Given the description of an element on the screen output the (x, y) to click on. 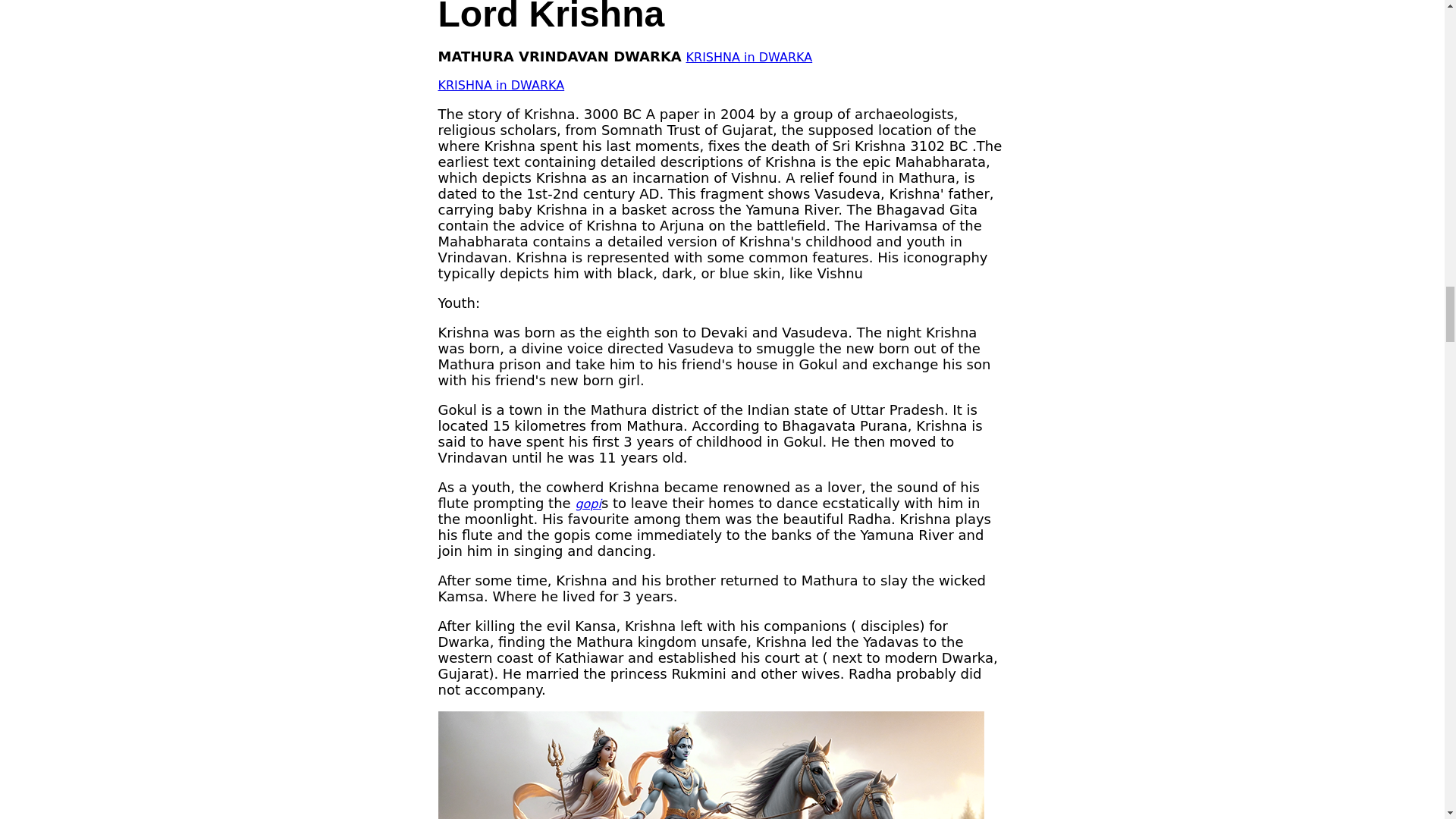
KRISHNA in DWARKA (748, 56)
gopi (588, 503)
KRISHNA in DWARKA (501, 84)
